Given the description of an element on the screen output the (x, y) to click on. 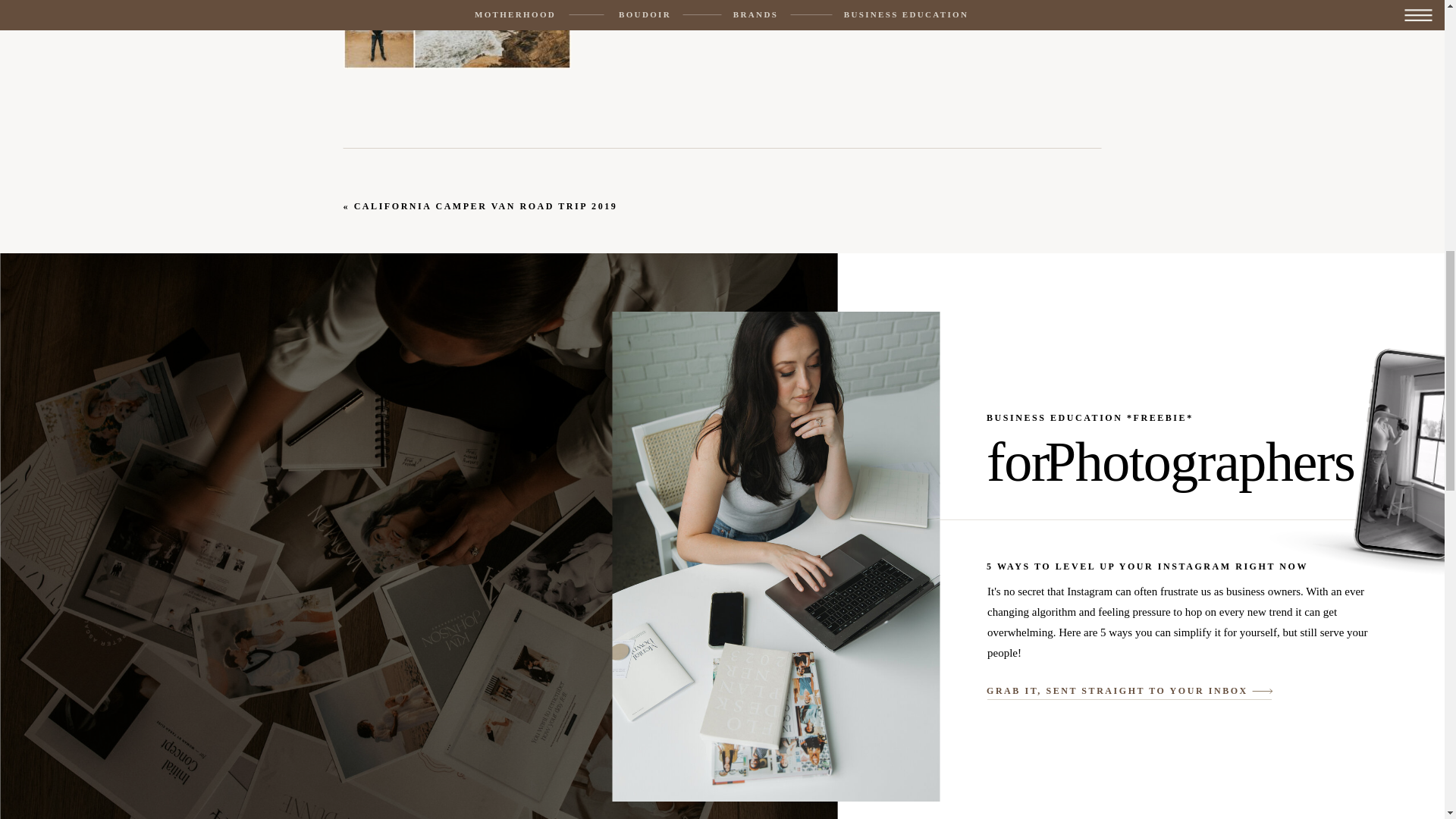
CALIFORNIA CAMPER VAN ROAD TRIP 2019 (485, 205)
GRAB IT, SENT STRAIGHT TO YOUR INBOX (1118, 690)
